Given the description of an element on the screen output the (x, y) to click on. 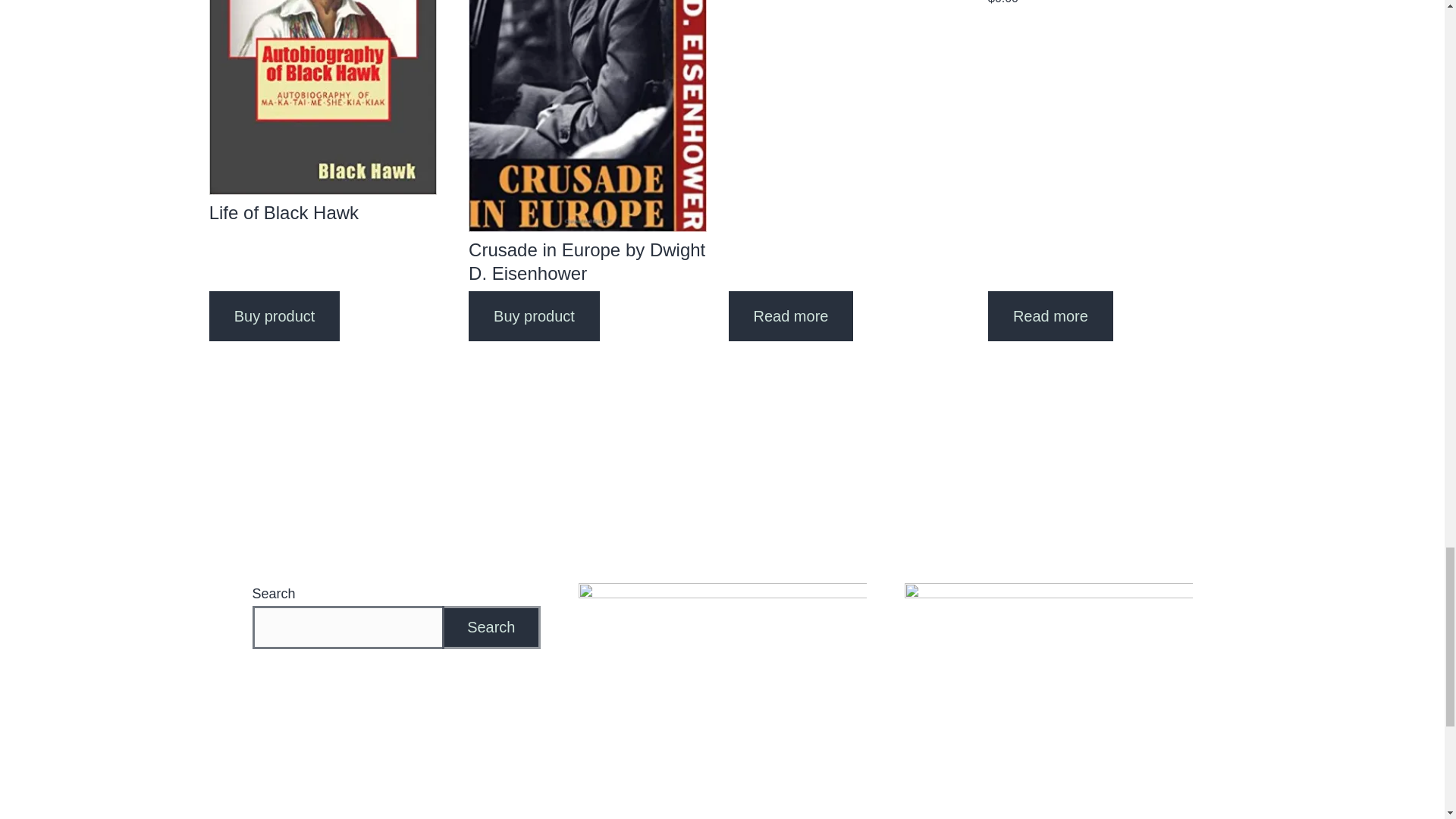
Life of Black Hawk (322, 115)
